Given the description of an element on the screen output the (x, y) to click on. 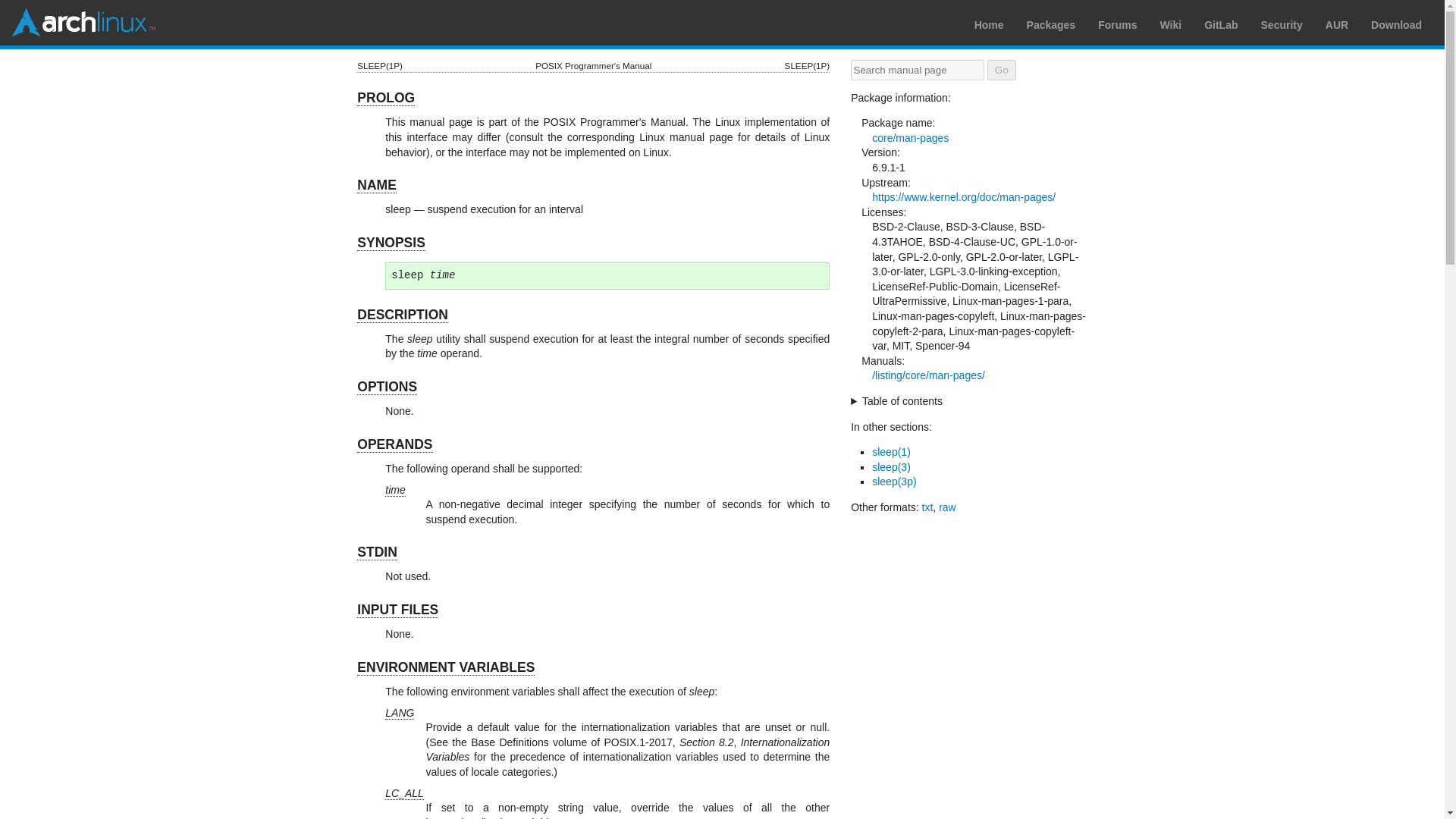
GitLab (1220, 24)
NAME (376, 185)
Arch Linux User Repository (1336, 24)
Wiki (1171, 24)
GitLab (1220, 24)
Security (1281, 24)
Return to the main page (83, 22)
Arch Package Database (1050, 24)
ENVIRONMENT VARIABLES (445, 667)
STDIN (376, 552)
Go (1001, 69)
Community documentation (1171, 24)
Community forums (1117, 24)
OPTIONS (386, 386)
time (394, 490)
